Given the description of an element on the screen output the (x, y) to click on. 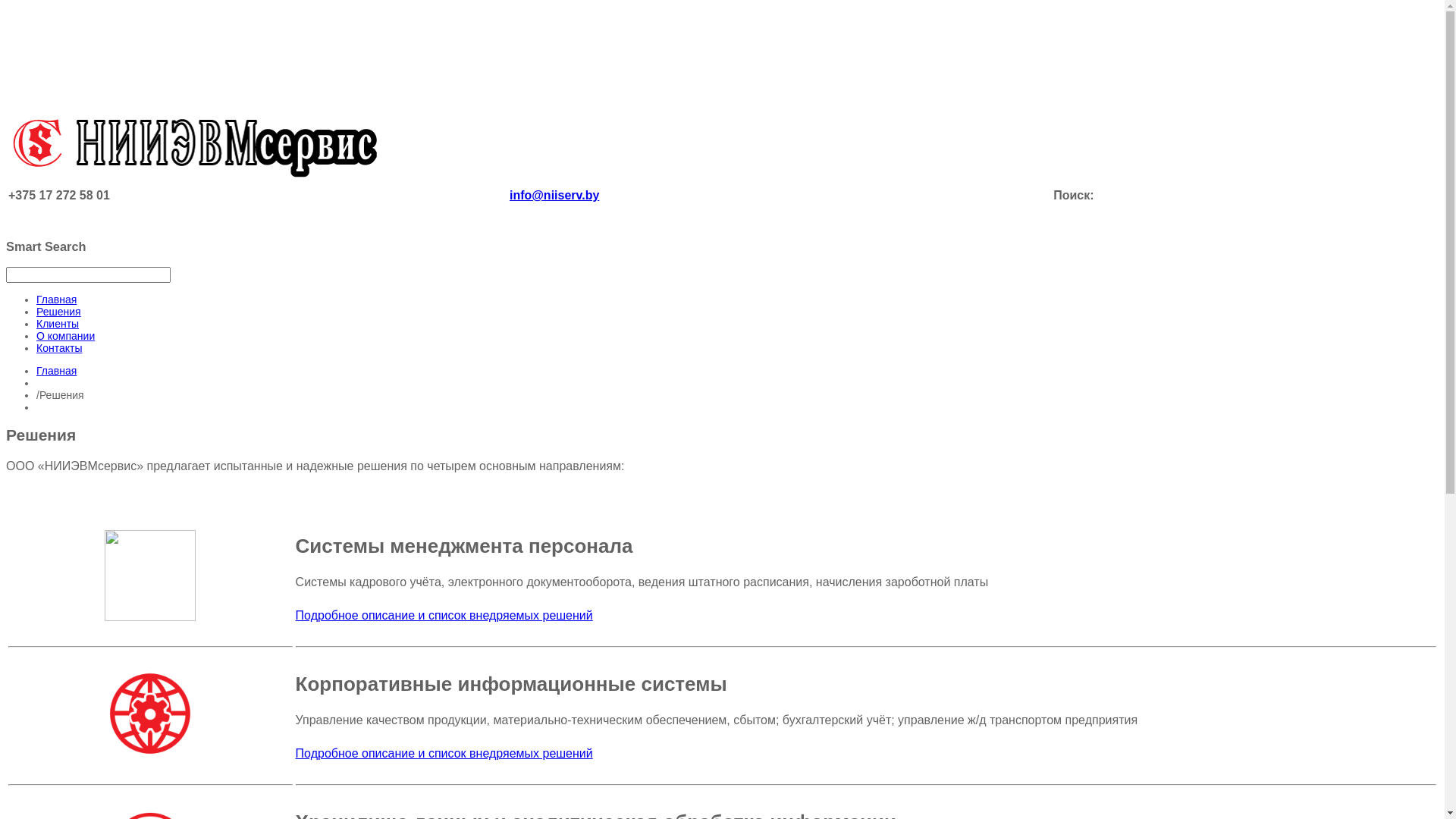
info@niiserv.by Element type: text (554, 194)
